Given the description of an element on the screen output the (x, y) to click on. 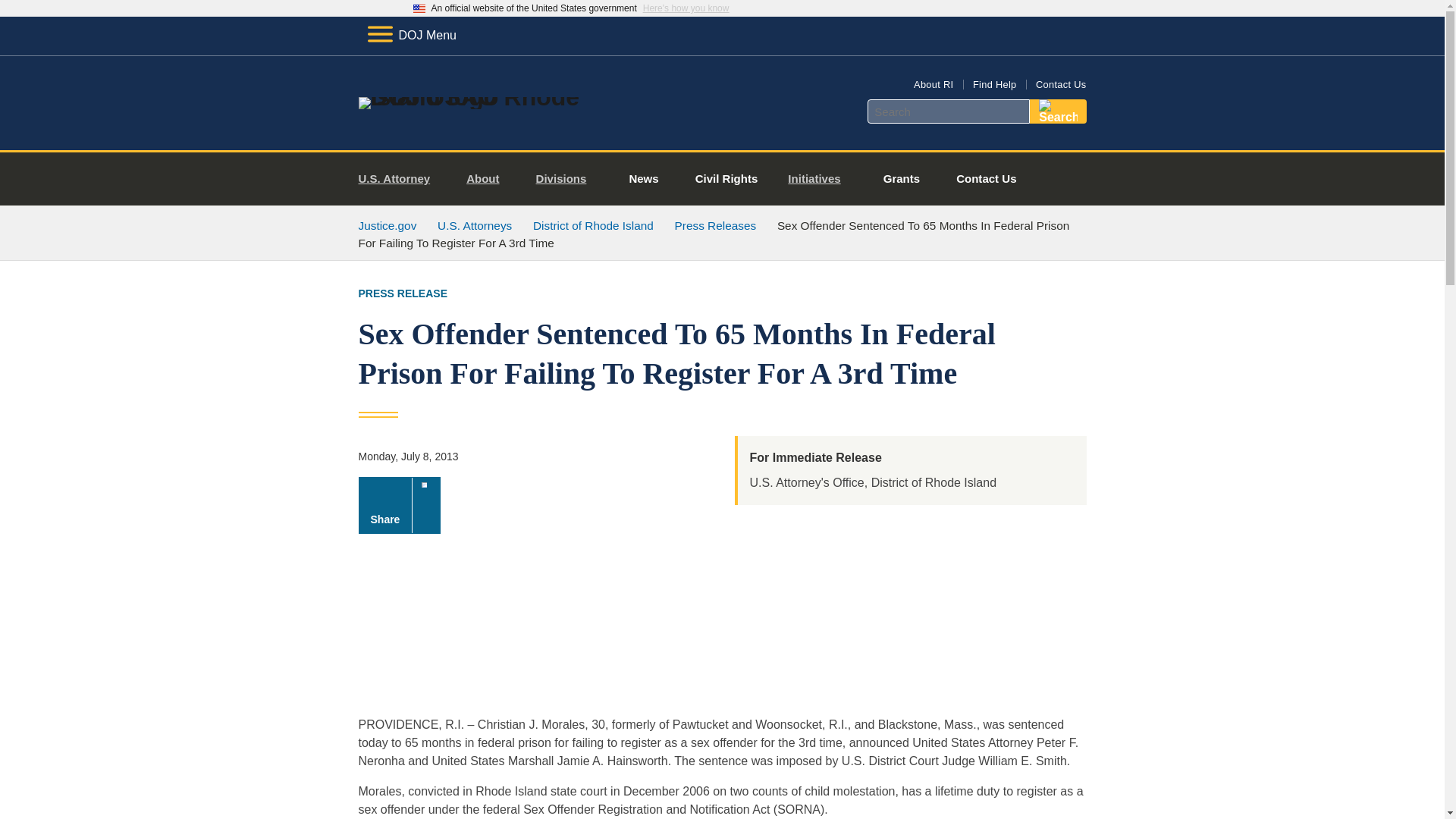
Divisions (567, 179)
District of Rhode Island (592, 225)
Home (481, 96)
Civil Rights Program (726, 179)
Press Releases (716, 225)
News (643, 179)
Justice.gov (387, 225)
Contact Us (1060, 84)
Initiatives (820, 179)
Here's how you know (686, 8)
U.S. Attorneys (475, 225)
About RI (933, 84)
Find Help (994, 84)
Share (398, 504)
Civil Rights (726, 179)
